Given the description of an element on the screen output the (x, y) to click on. 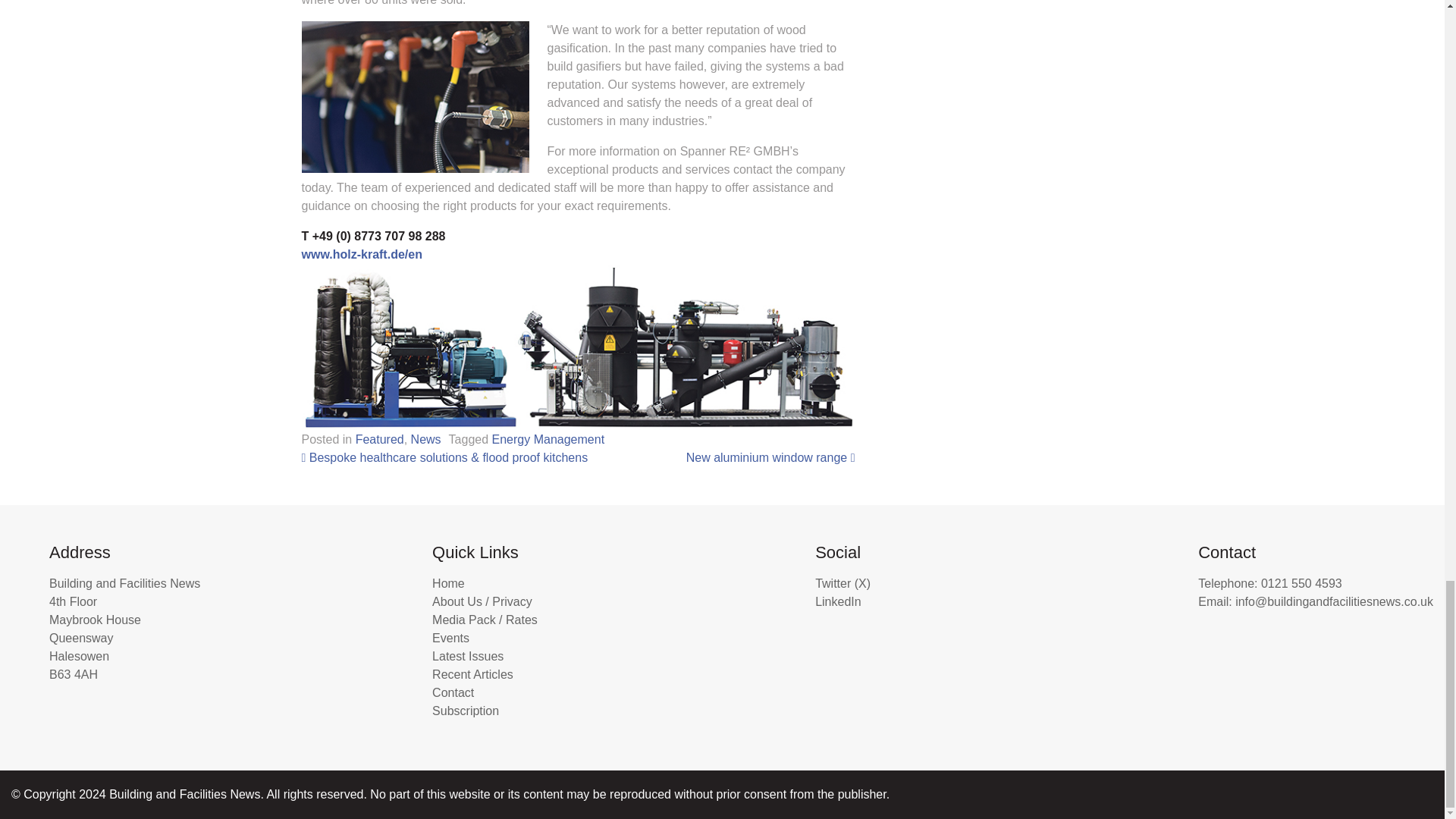
Featured (379, 439)
Energy Management (548, 439)
News (425, 439)
New aluminium window range  (770, 457)
